Given the description of an element on the screen output the (x, y) to click on. 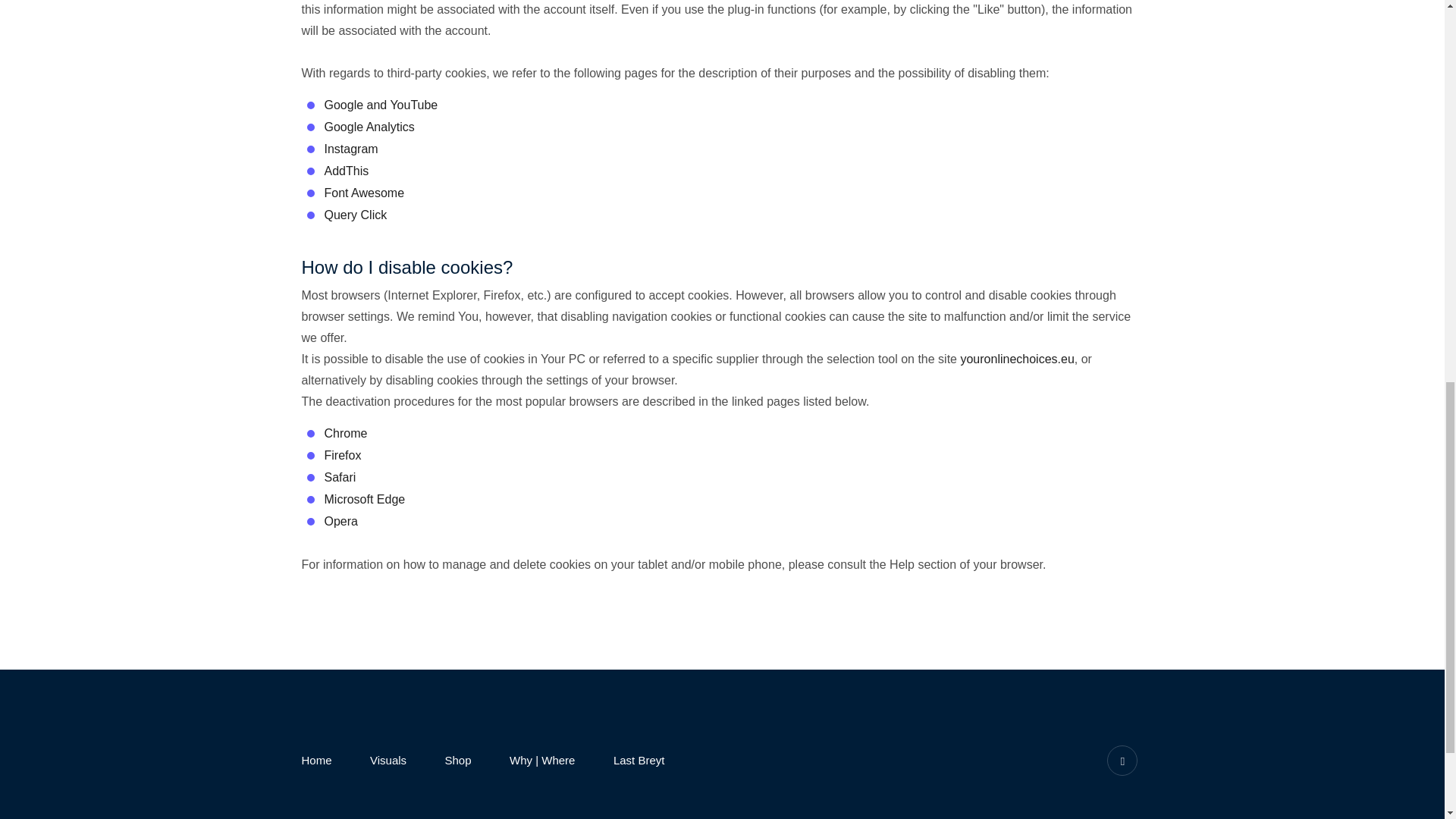
Opera (341, 521)
Why Last Breyt 1987 and Where (542, 759)
Last Breyt (638, 759)
Shop (458, 759)
Google Analytics (369, 126)
youronlinechoices.eu (1016, 358)
Microsoft Edge (365, 499)
Visuals (387, 759)
Google and YouTube (381, 104)
Home (316, 759)
